Given the description of an element on the screen output the (x, y) to click on. 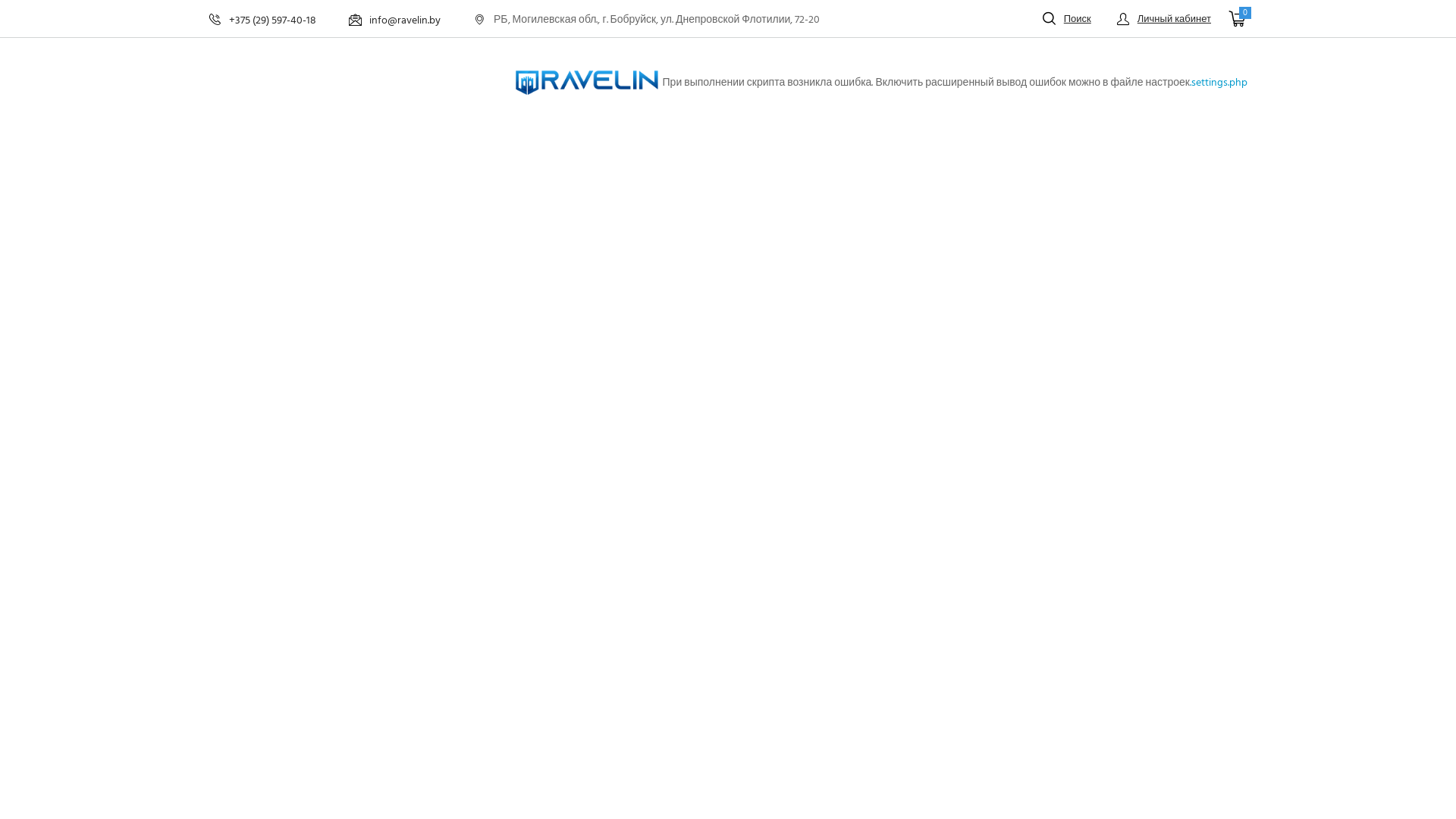
+375 (29) 597-40-18 Element type: text (262, 19)
0 Element type: text (1237, 18)
.settings.php Element type: text (1218, 82)
logo.png Element type: hover (586, 81)
info@ravelin.by Element type: text (394, 19)
